Given the description of an element on the screen output the (x, y) to click on. 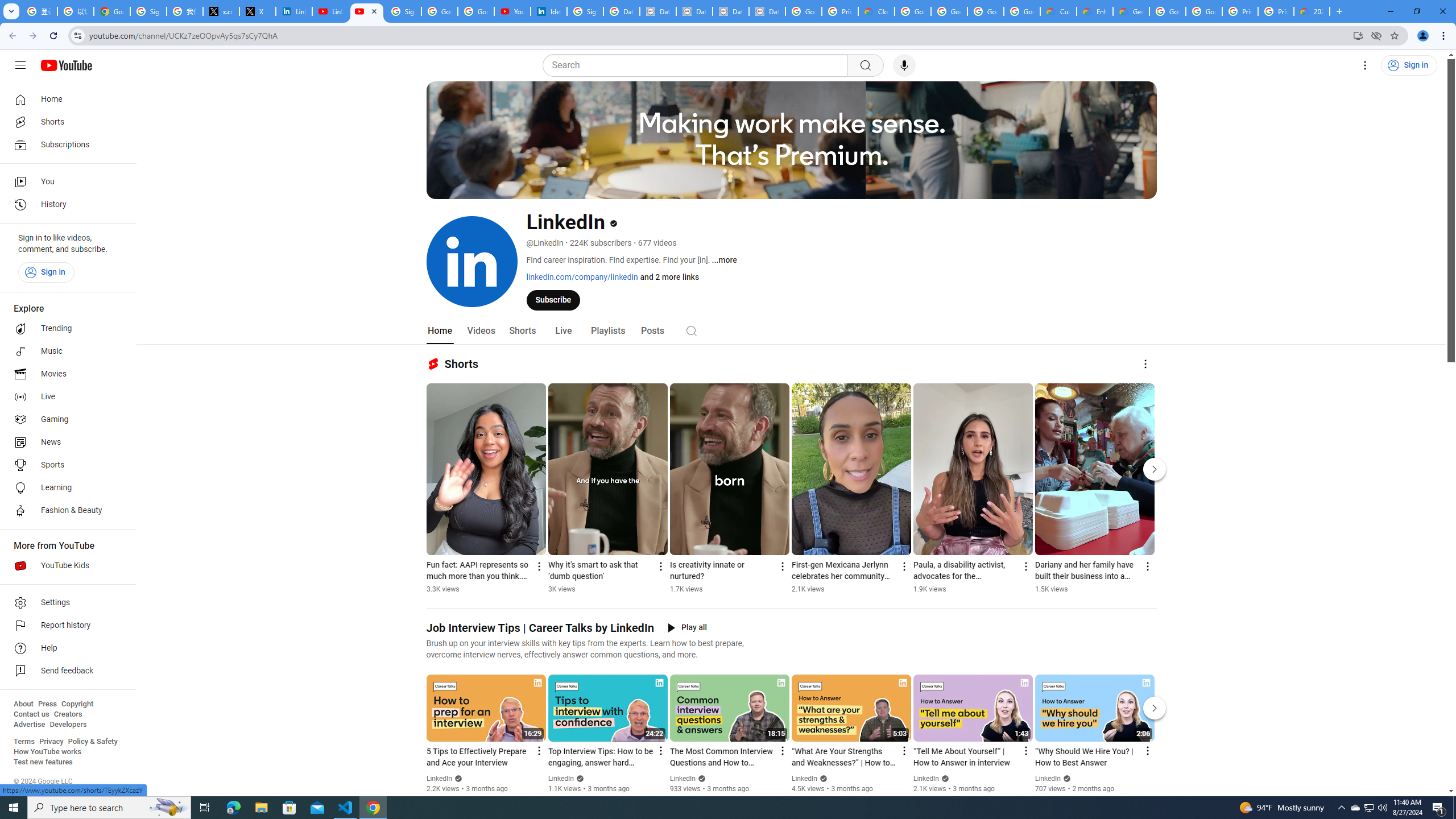
Copyright (77, 703)
Subscriptions (64, 144)
Google Workspace - Specific Terms (985, 11)
LinkedIn - YouTube (330, 11)
Creators (67, 714)
and 2 more links (668, 276)
Shorts (64, 121)
Search with your voice (903, 65)
